Given the description of an element on the screen output the (x, y) to click on. 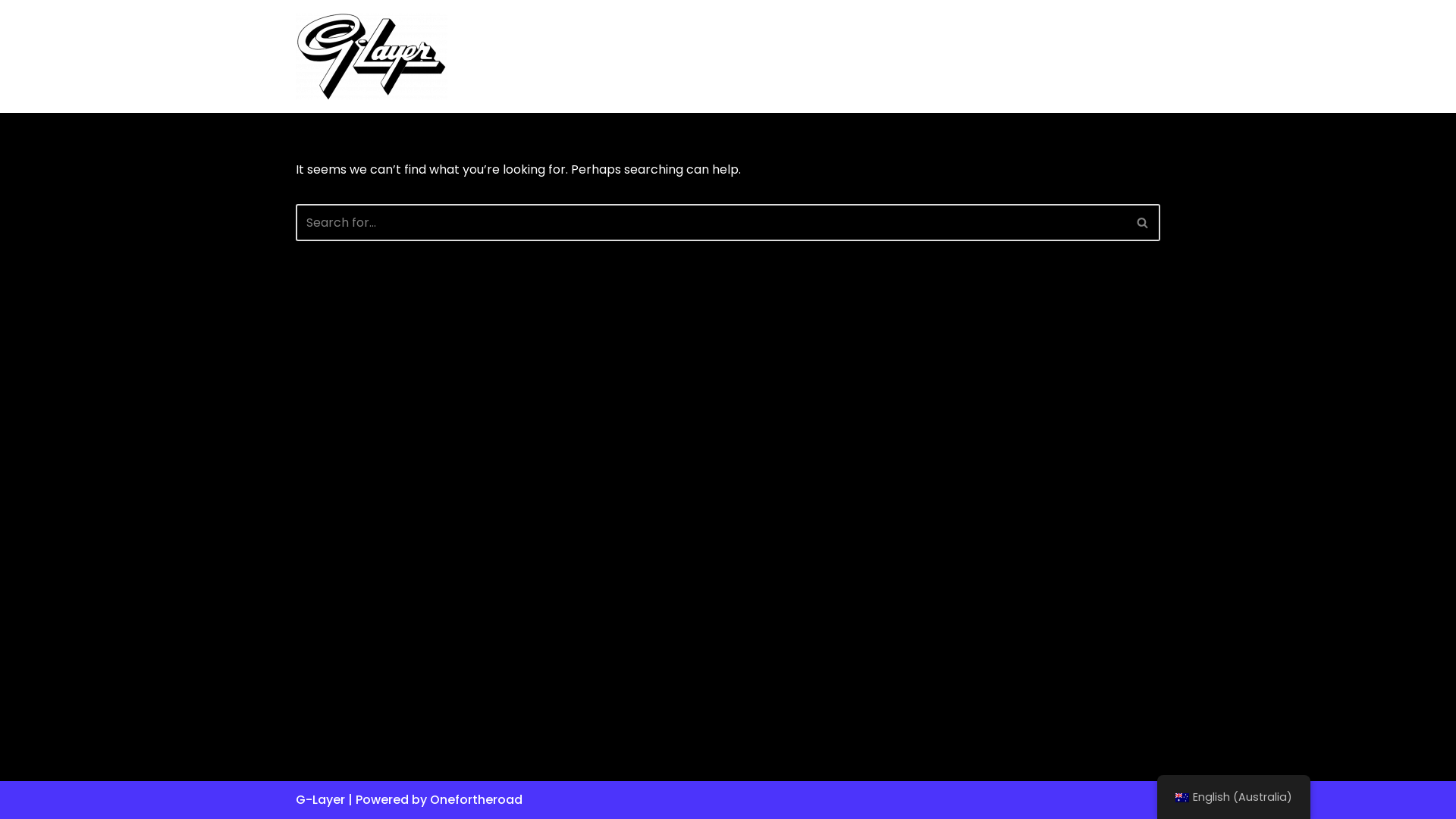
Onefortheroad Element type: text (475, 799)
English (Australia) Element type: text (1233, 797)
English (Australia) Element type: hover (1182, 797)
G-Layer Element type: hover (371, 56)
G-Layer Element type: text (320, 799)
Skip to content Element type: text (11, 31)
